Given the description of an element on the screen output the (x, y) to click on. 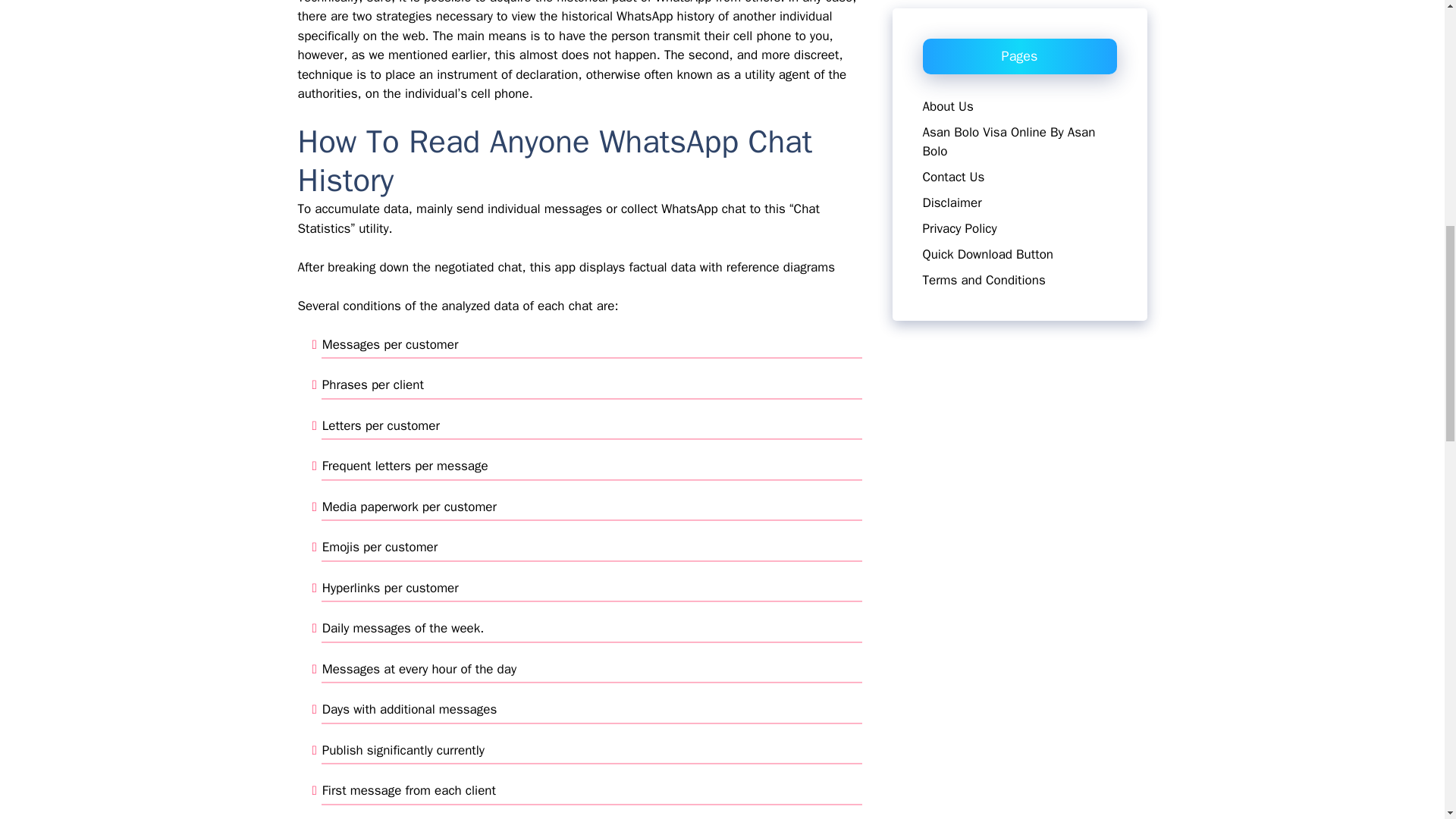
Terms and Conditions (983, 1)
